Given the description of an element on the screen output the (x, y) to click on. 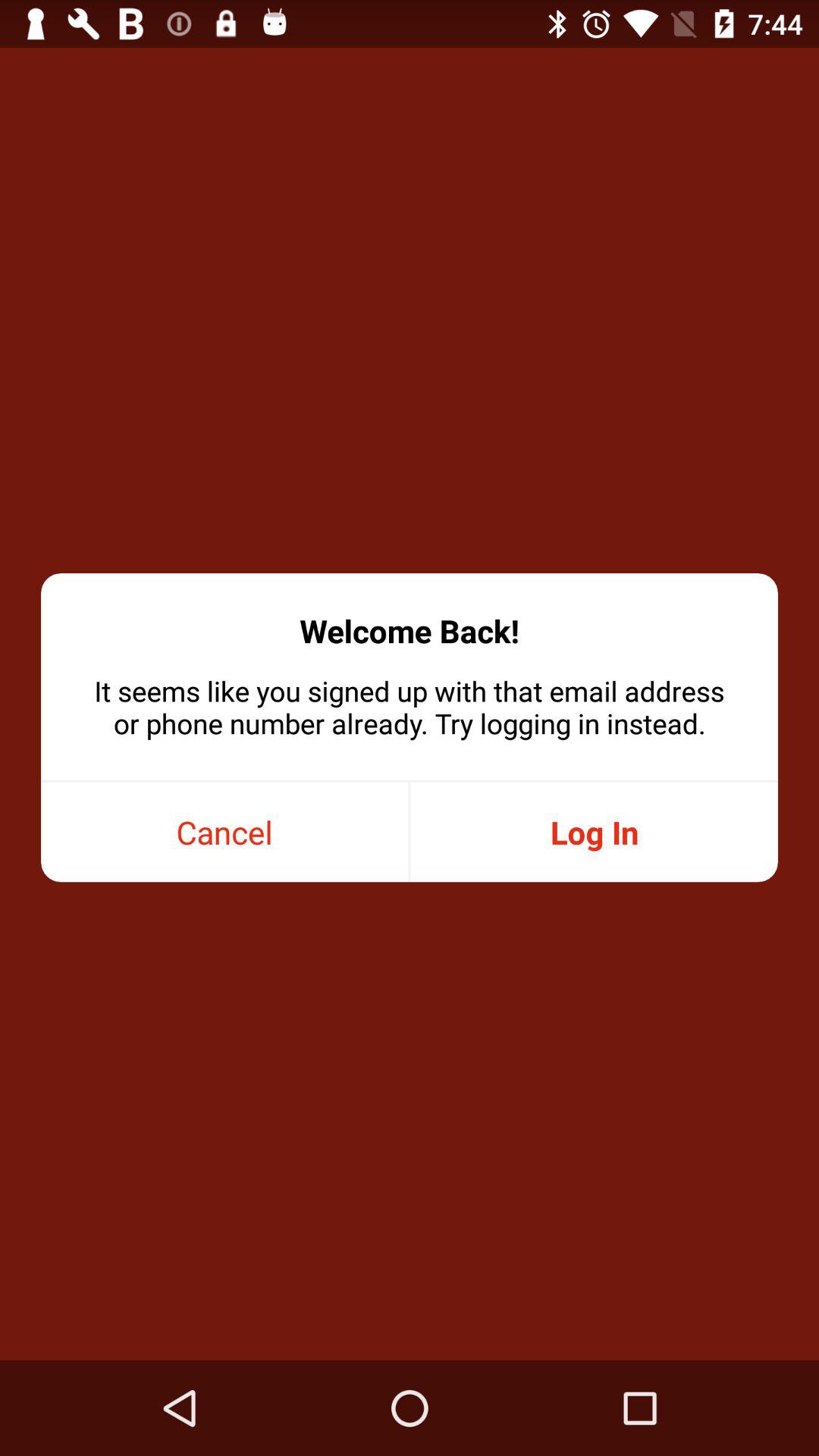
swipe to the log in icon (594, 832)
